Given the description of an element on the screen output the (x, y) to click on. 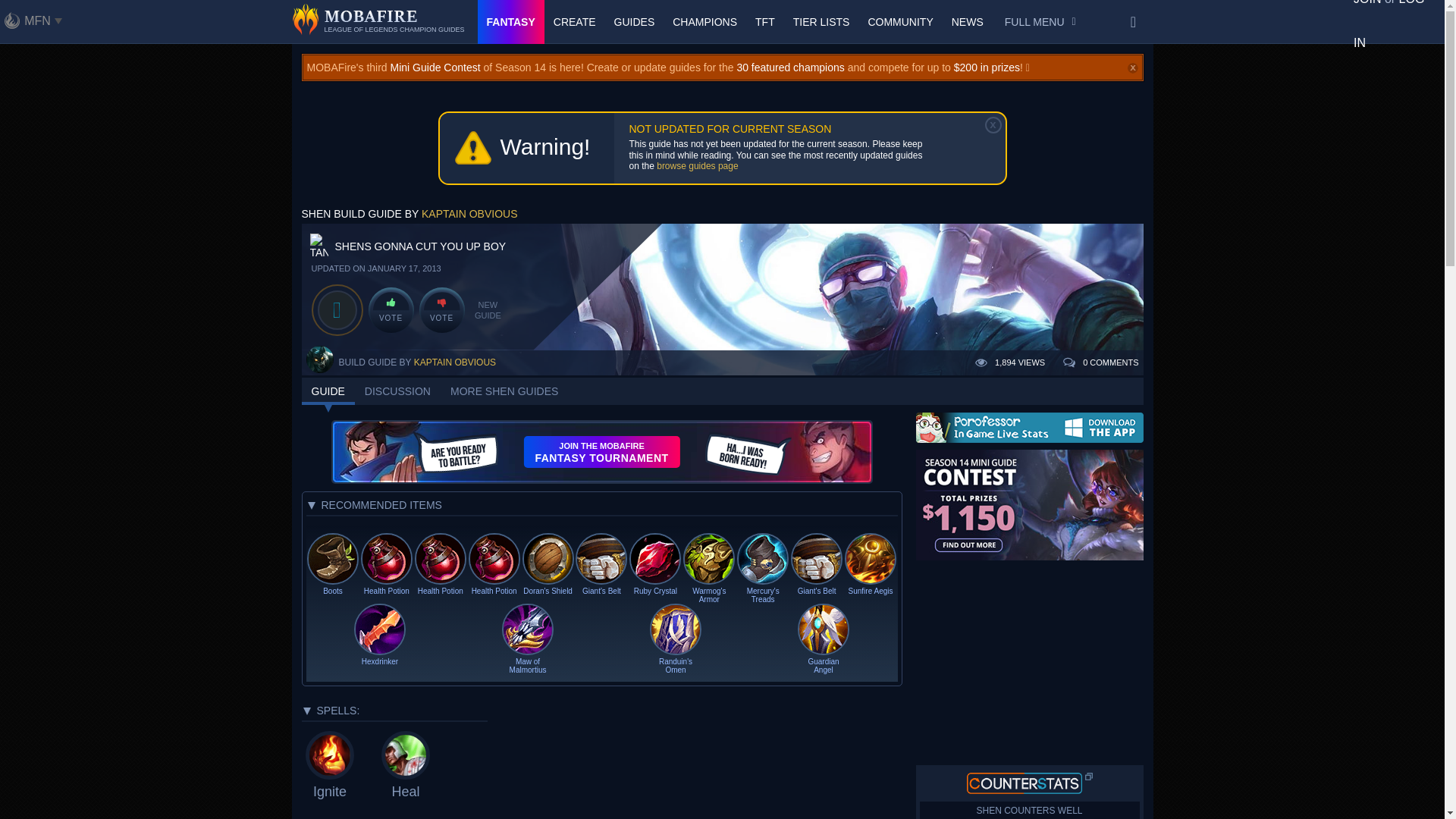
CHAMPIONS (704, 22)
TIER LISTS (821, 22)
FULL MENU (1039, 22)
NEWS (967, 22)
GUIDES (634, 22)
FANTASY (510, 22)
LEAGUE OF LEGENDS CHAMPION GUIDES (378, 22)
CREATE (574, 22)
COMMUNITY (900, 22)
